Given the description of an element on the screen output the (x, y) to click on. 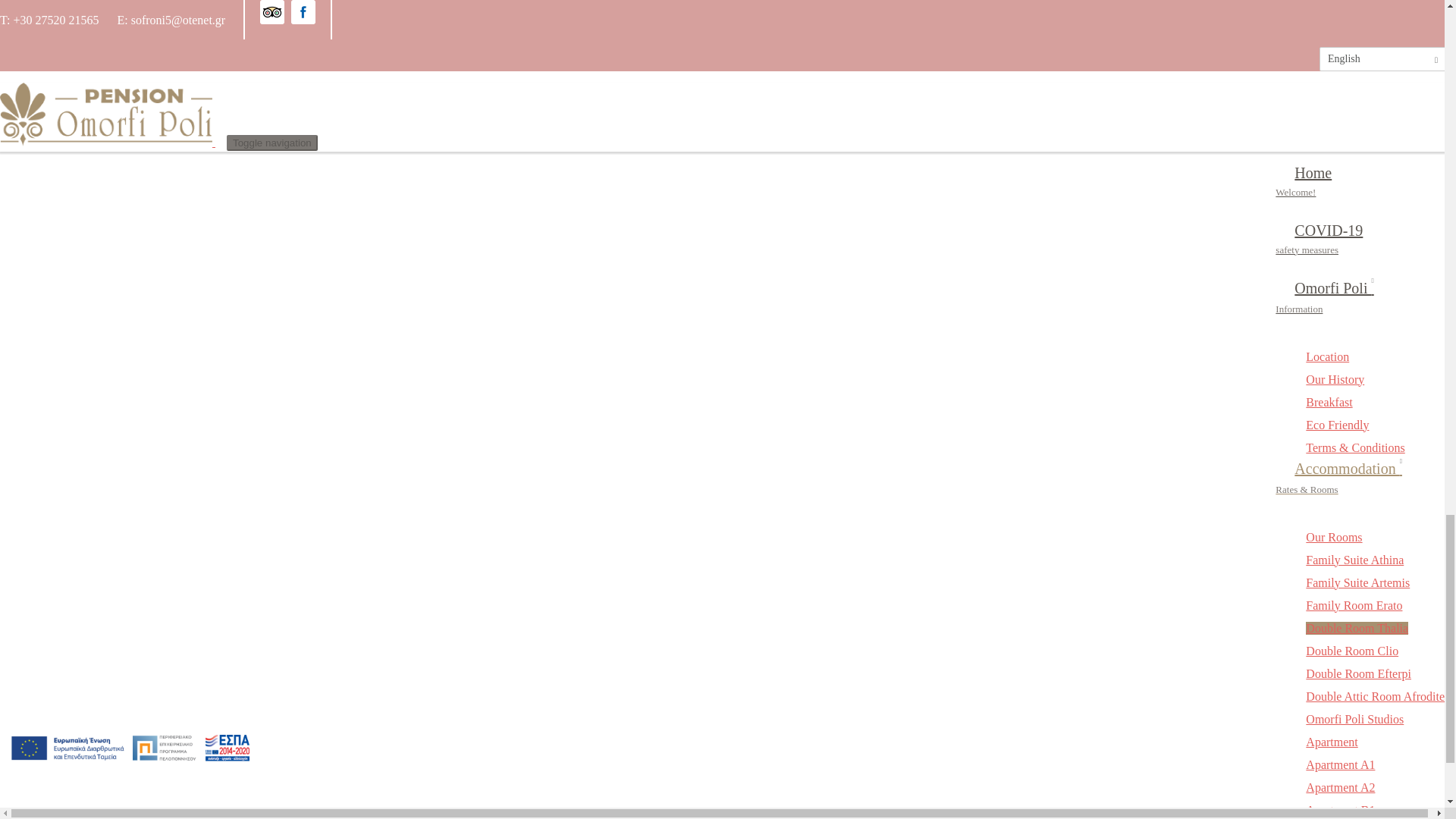
Welcome! (47, 163)
safety measures (59, 181)
Information (61, 199)
Hotelbewertungen bei HolidayCheck anschauen (722, 14)
